Given the description of an element on the screen output the (x, y) to click on. 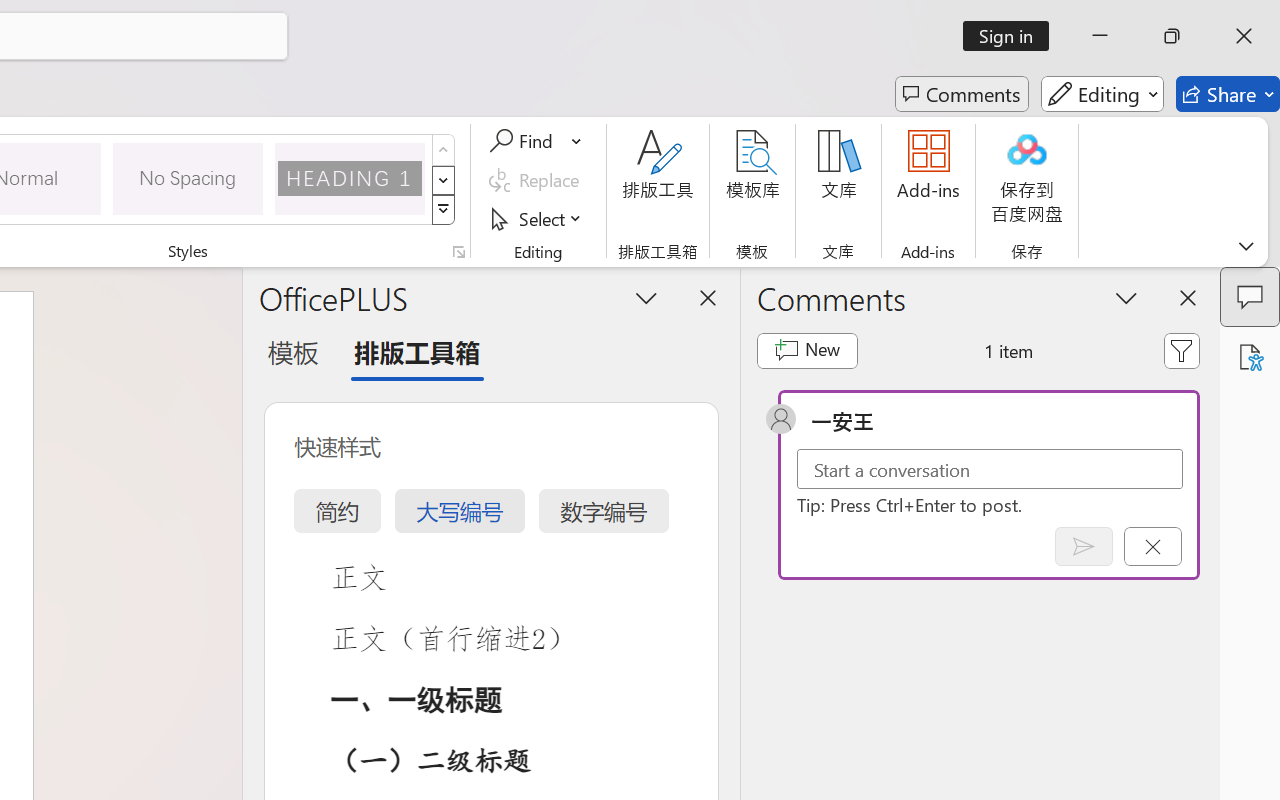
Sign in (1012, 35)
Accessibility Assistant (1249, 357)
Start a conversation (990, 468)
